Given the description of an element on the screen output the (x, y) to click on. 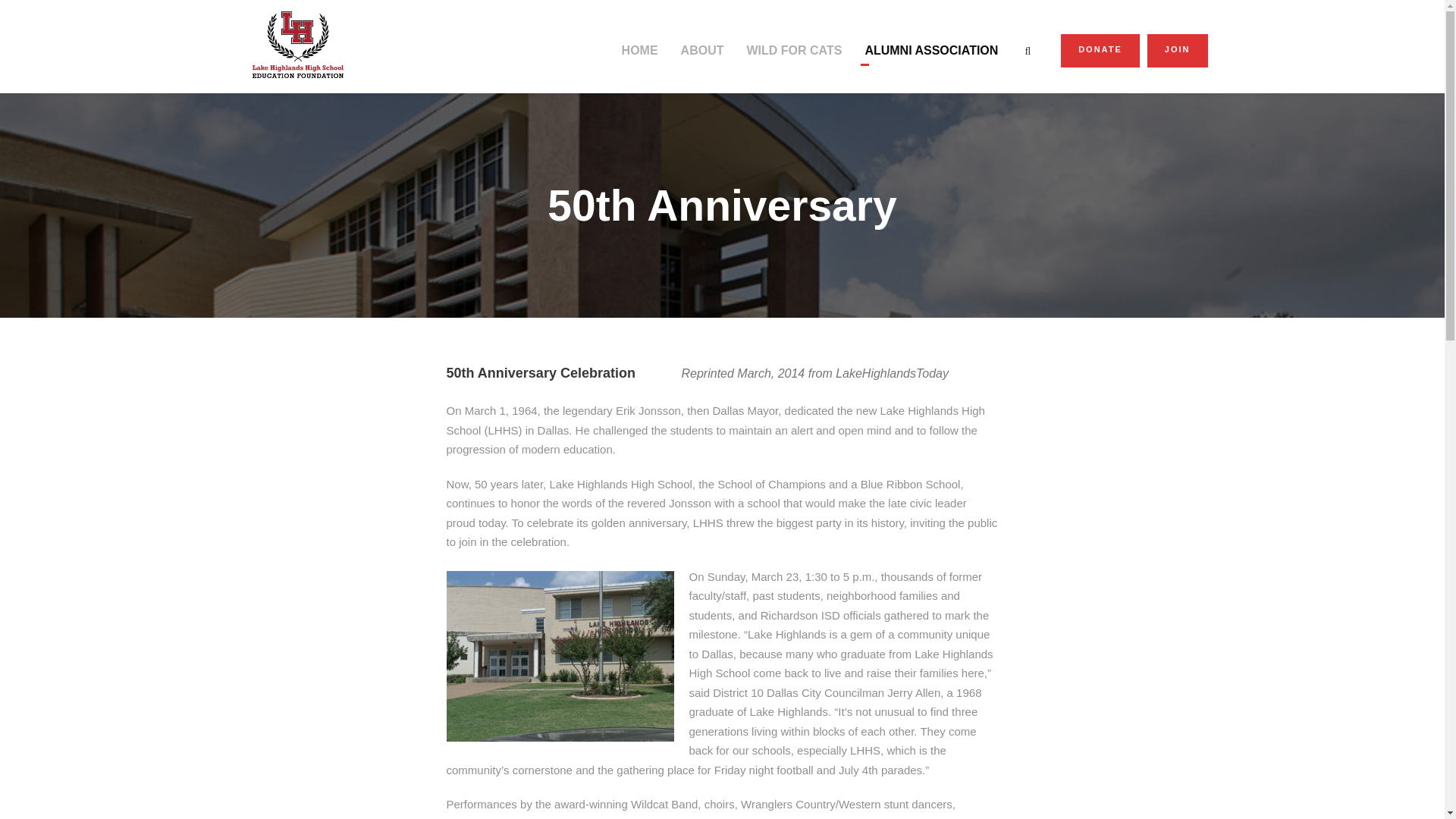
WILD FOR CATS (793, 57)
HOME (639, 57)
ABOUT (702, 57)
